Given the description of an element on the screen output the (x, y) to click on. 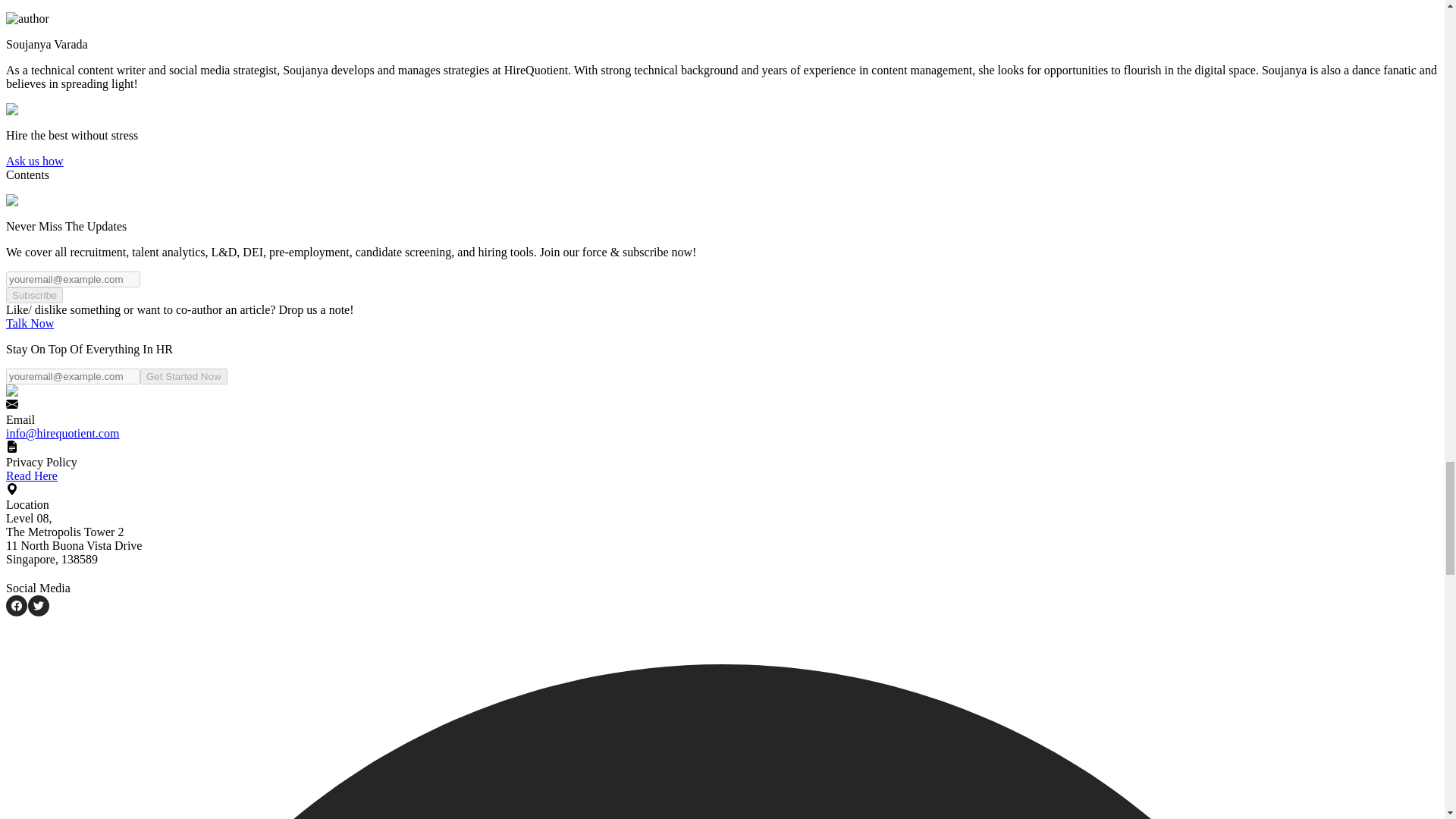
Subscribe (33, 295)
Get Started Now (183, 376)
Ask us how (34, 160)
Talk Now (29, 323)
Read Here (31, 475)
